Given the description of an element on the screen output the (x, y) to click on. 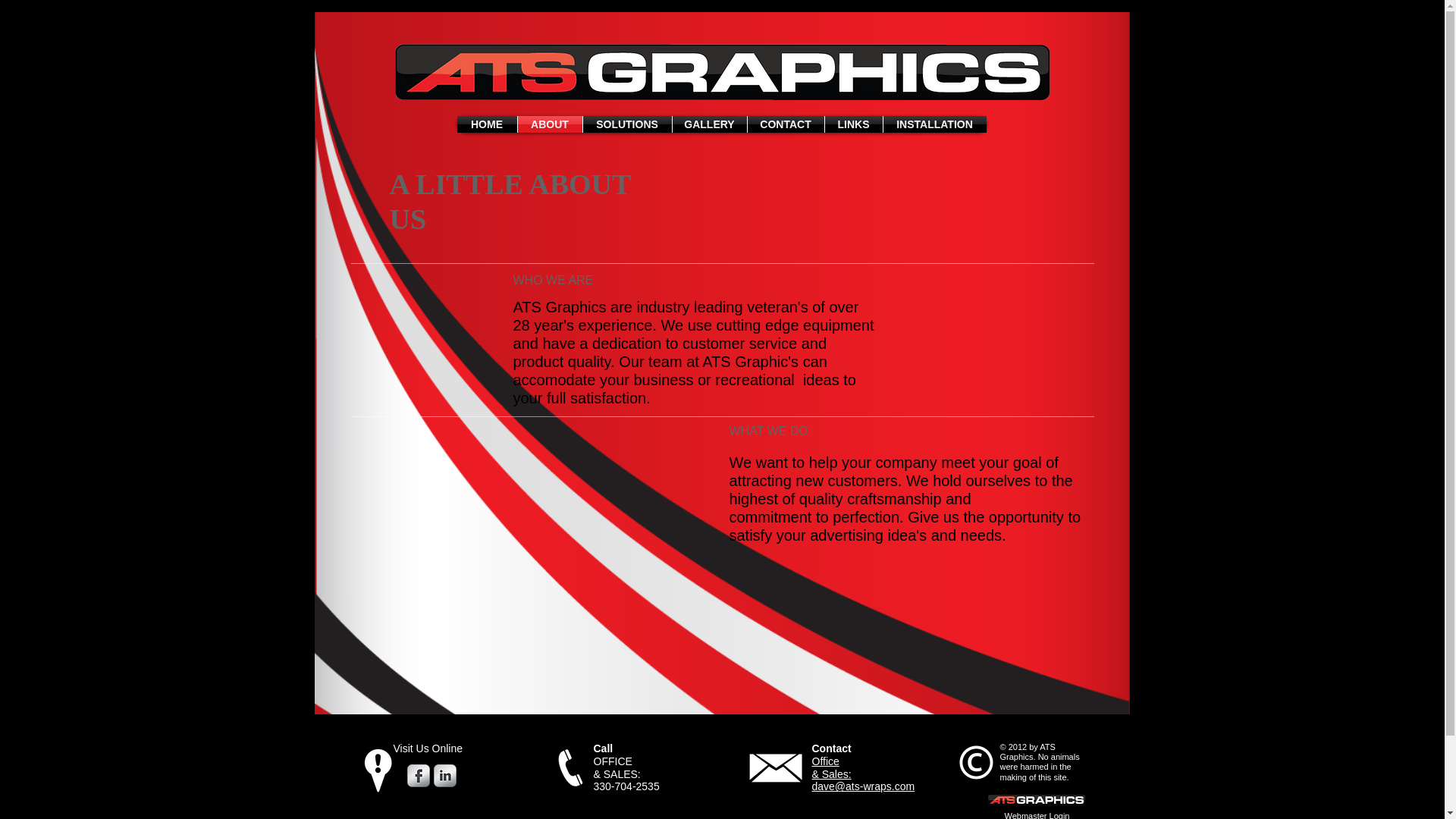
HOME (486, 124)
SOLUTIONS (626, 124)
ABOUT (548, 124)
INSTALLATION (933, 124)
GALLERY (708, 124)
LINKS (853, 124)
Webmaster Login (1036, 814)
CONTACT (786, 124)
